Given the description of an element on the screen output the (x, y) to click on. 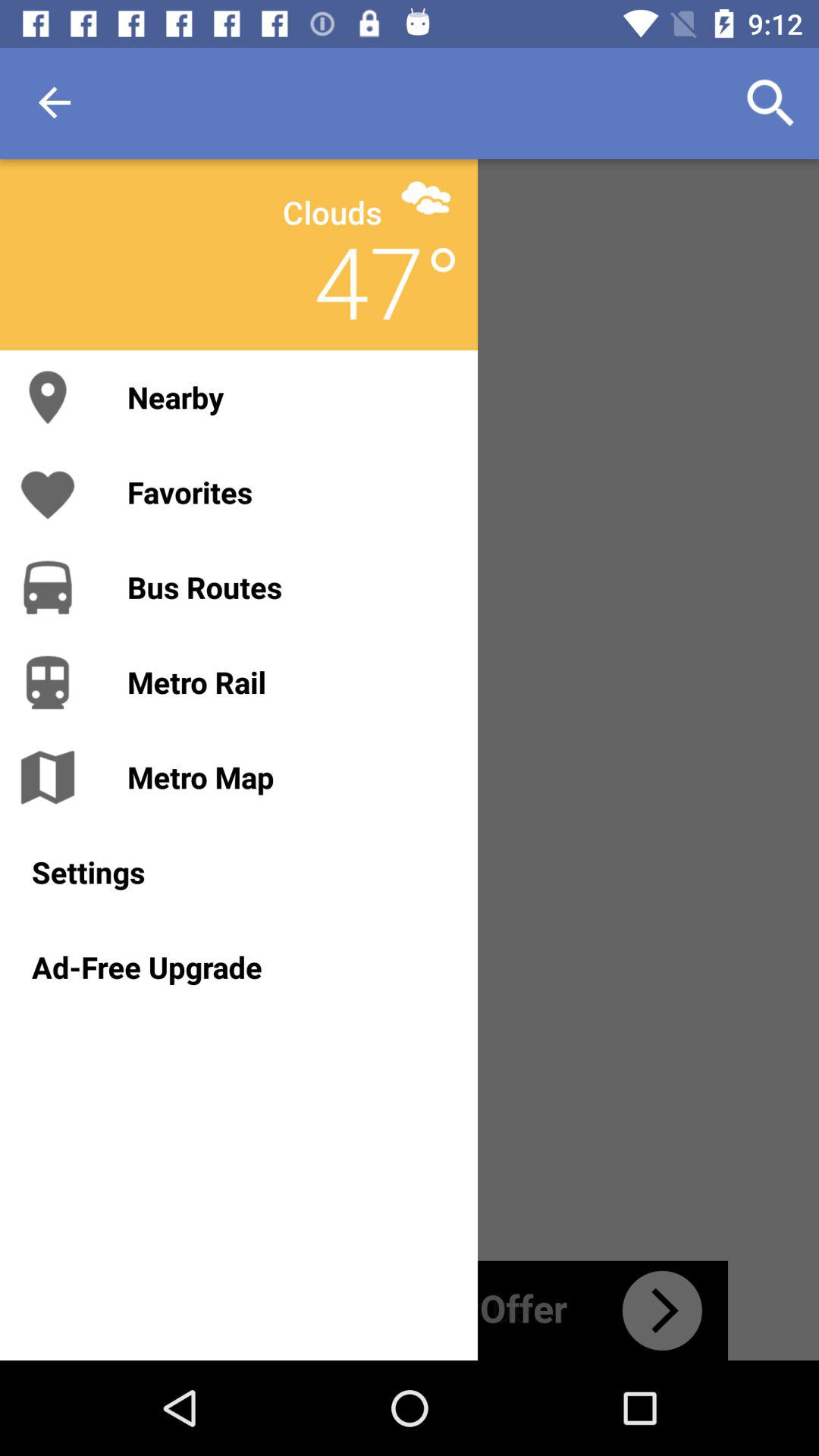
launch settings (238, 871)
